Given the description of an element on the screen output the (x, y) to click on. 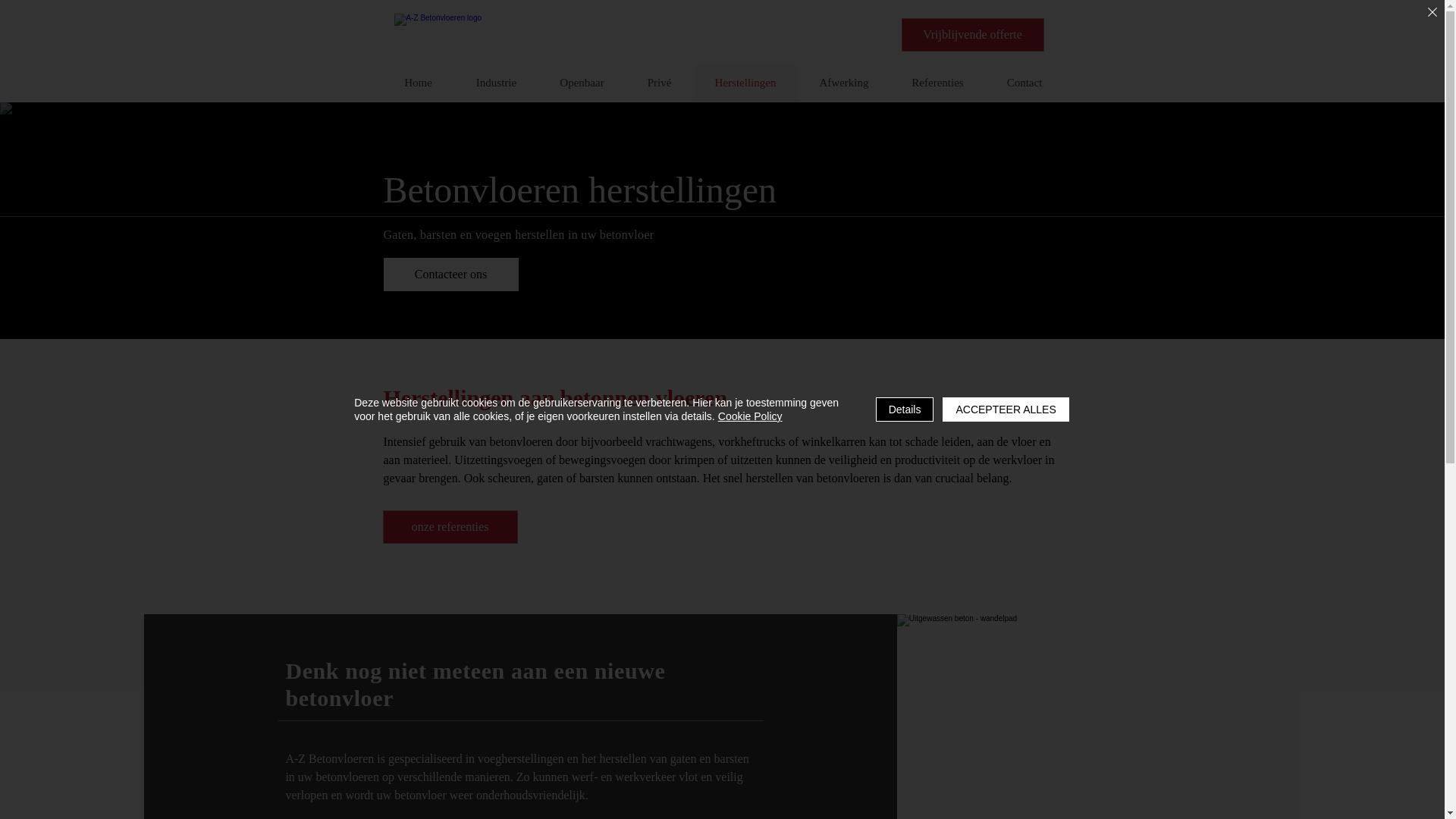
Contacteer ons Element type: text (450, 274)
Vrijblijvende offerte Element type: text (971, 34)
onze referenties Element type: text (449, 526)
Industrie Element type: text (495, 82)
Home Element type: text (417, 82)
Afwerking Element type: text (843, 82)
Contact Element type: text (1023, 82)
Openbaar Element type: text (581, 82)
Referenties Element type: text (937, 82)
Herstellingen Element type: text (745, 82)
